Given the description of an element on the screen output the (x, y) to click on. 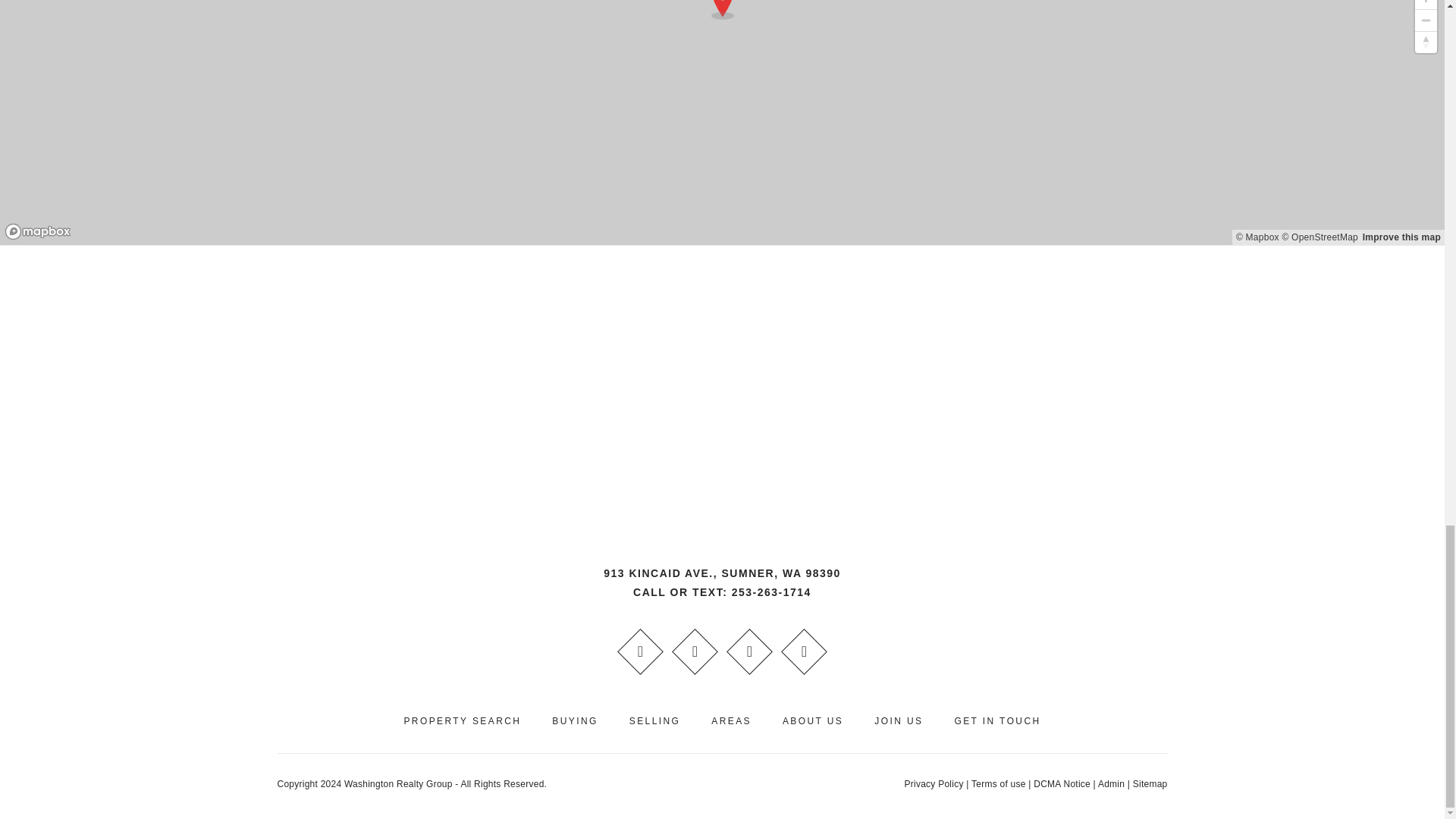
Zoom out (1426, 20)
Reset bearing to north (1426, 42)
Follow Washington Realty Group on Youtube (694, 651)
OpenStreetMap (1319, 236)
Follow Washington Realty Group on Facebook (639, 651)
Follow Washington Realty Group on Twitter (748, 651)
Zoom in (1426, 4)
Follow Washington Realty Group on Instagram (803, 651)
Improve this map (1401, 236)
Mapbox (1257, 236)
